Given the description of an element on the screen output the (x, y) to click on. 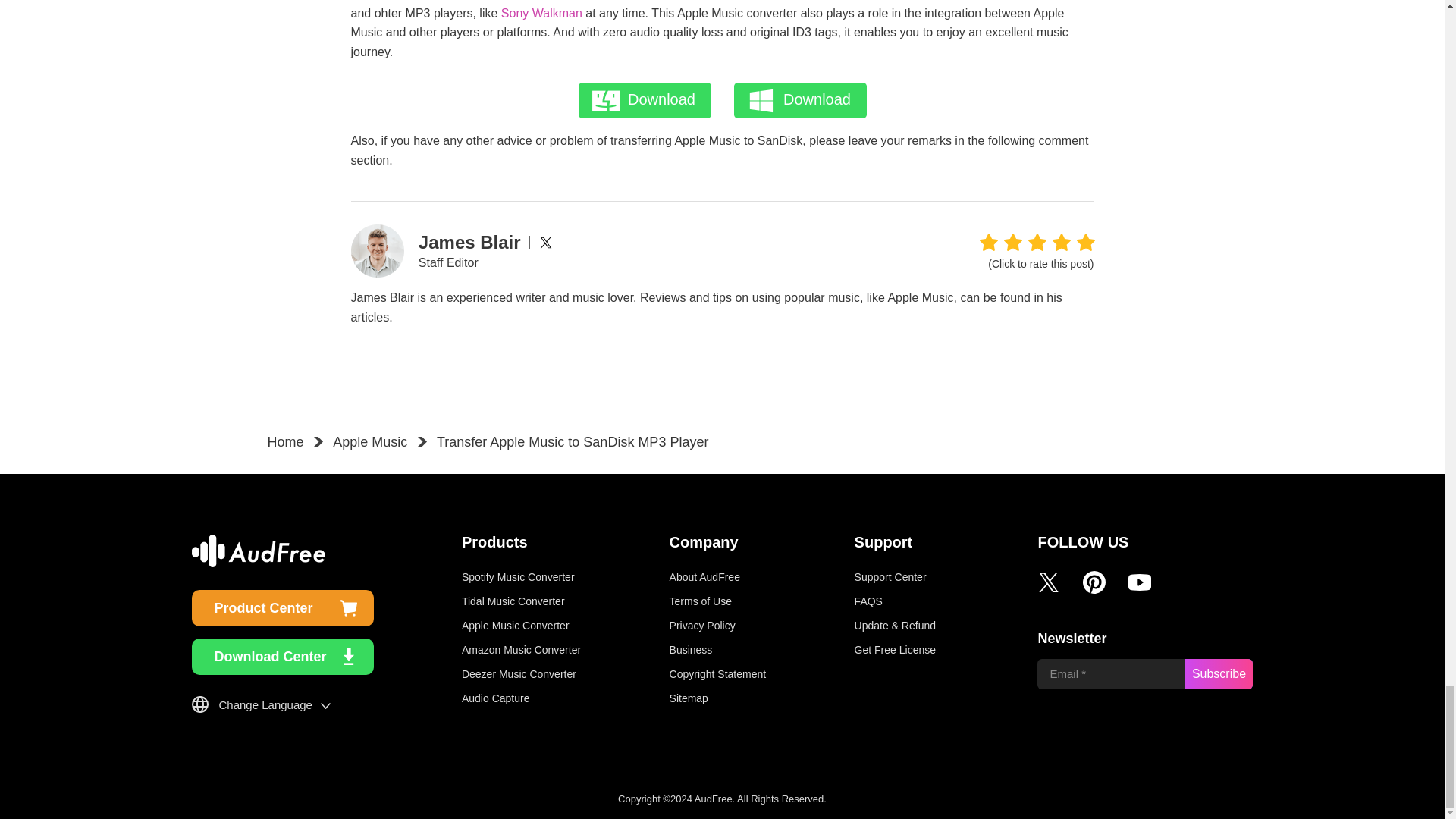
Download (799, 99)
Download (644, 99)
Sony Walkman (541, 12)
Subscribe (1218, 674)
James Blair (470, 241)
